Given the description of an element on the screen output the (x, y) to click on. 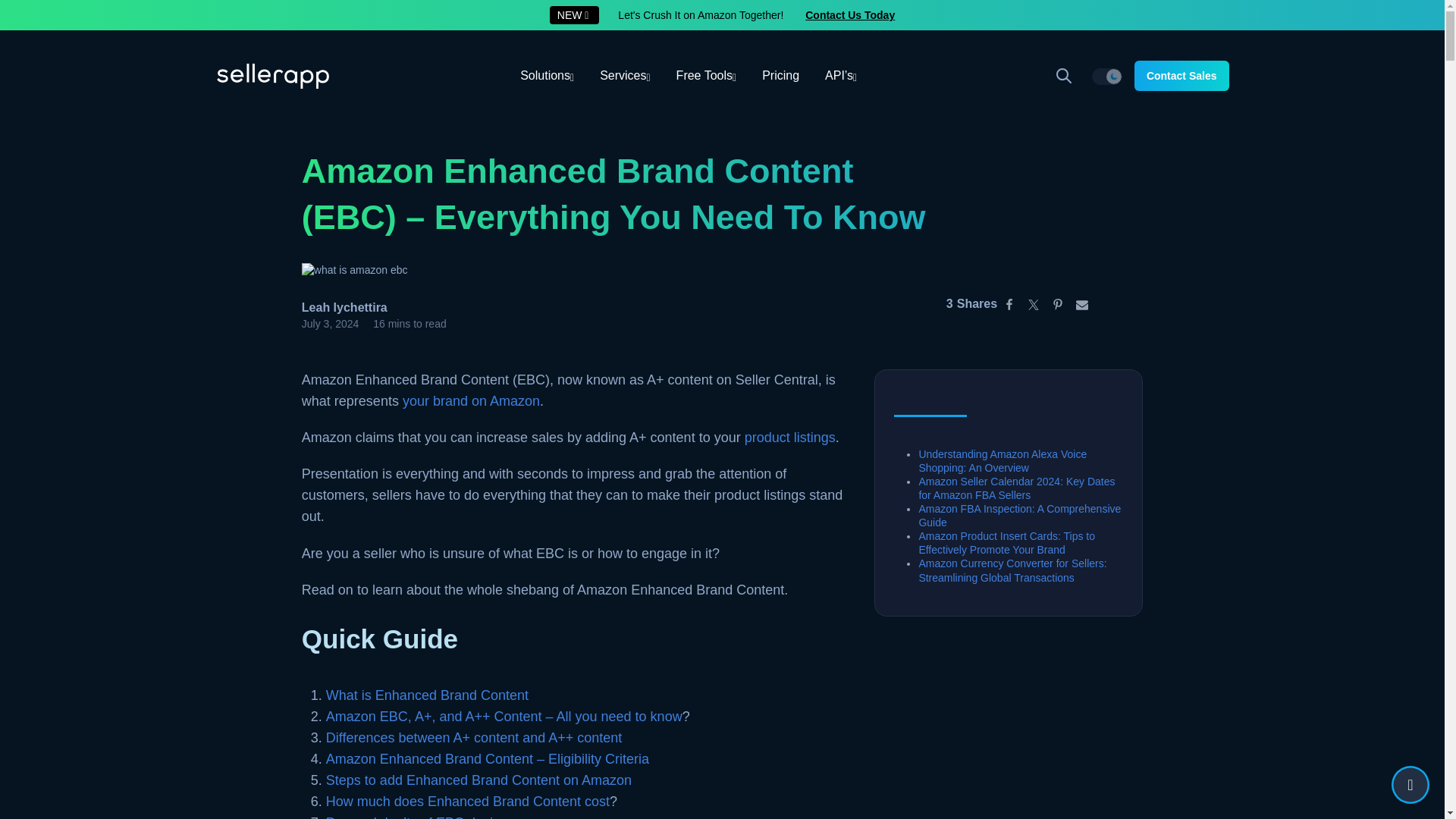
Share on Facebook (1009, 303)
Pricing (780, 75)
Services (624, 75)
Solutions (546, 75)
Share via Email (1082, 303)
on (1107, 76)
Contact Sales (1181, 75)
Contact Us Today (850, 15)
Posts by Leah Iychettira (344, 307)
Free Tools (706, 75)
